Given the description of an element on the screen output the (x, y) to click on. 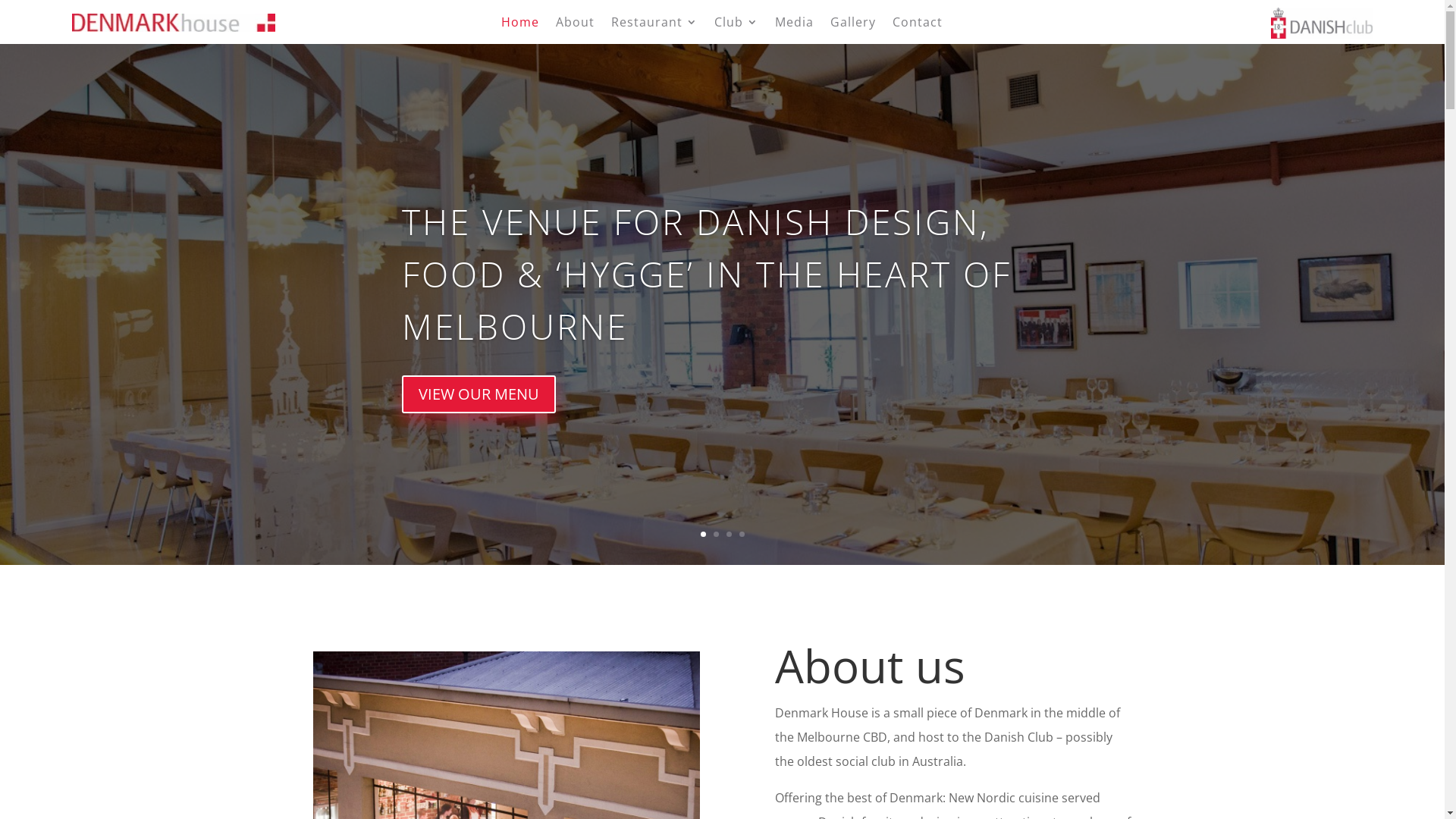
About Element type: text (574, 24)
Gallery Element type: text (852, 24)
Media Element type: text (794, 24)
Restaurant Element type: text (654, 24)
DC_Logo_CMYK 5 Element type: hover (1321, 22)
Home Element type: text (520, 24)
VIEW OUR MENU Element type: text (478, 394)
DH_Logo_CMYK-1 Element type: hover (173, 22)
2 Element type: text (715, 533)
Club Element type: text (736, 24)
1 Element type: text (703, 533)
3 Element type: text (728, 533)
Contact Element type: text (917, 24)
4 Element type: text (740, 533)
